Given the description of an element on the screen output the (x, y) to click on. 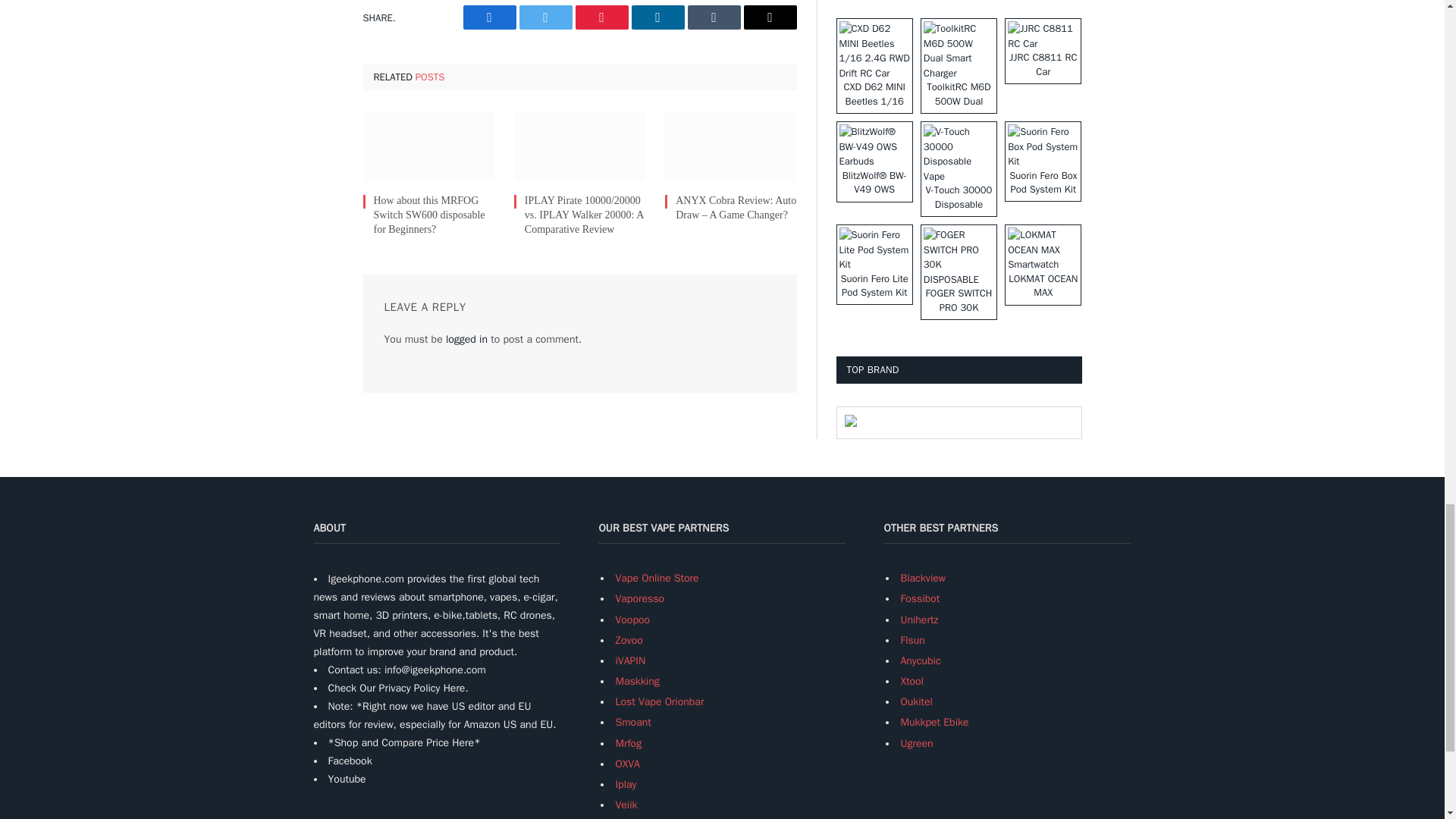
Share on Pinterest (601, 16)
Share on Twitter (545, 16)
Share on Facebook (489, 16)
